Given the description of an element on the screen output the (x, y) to click on. 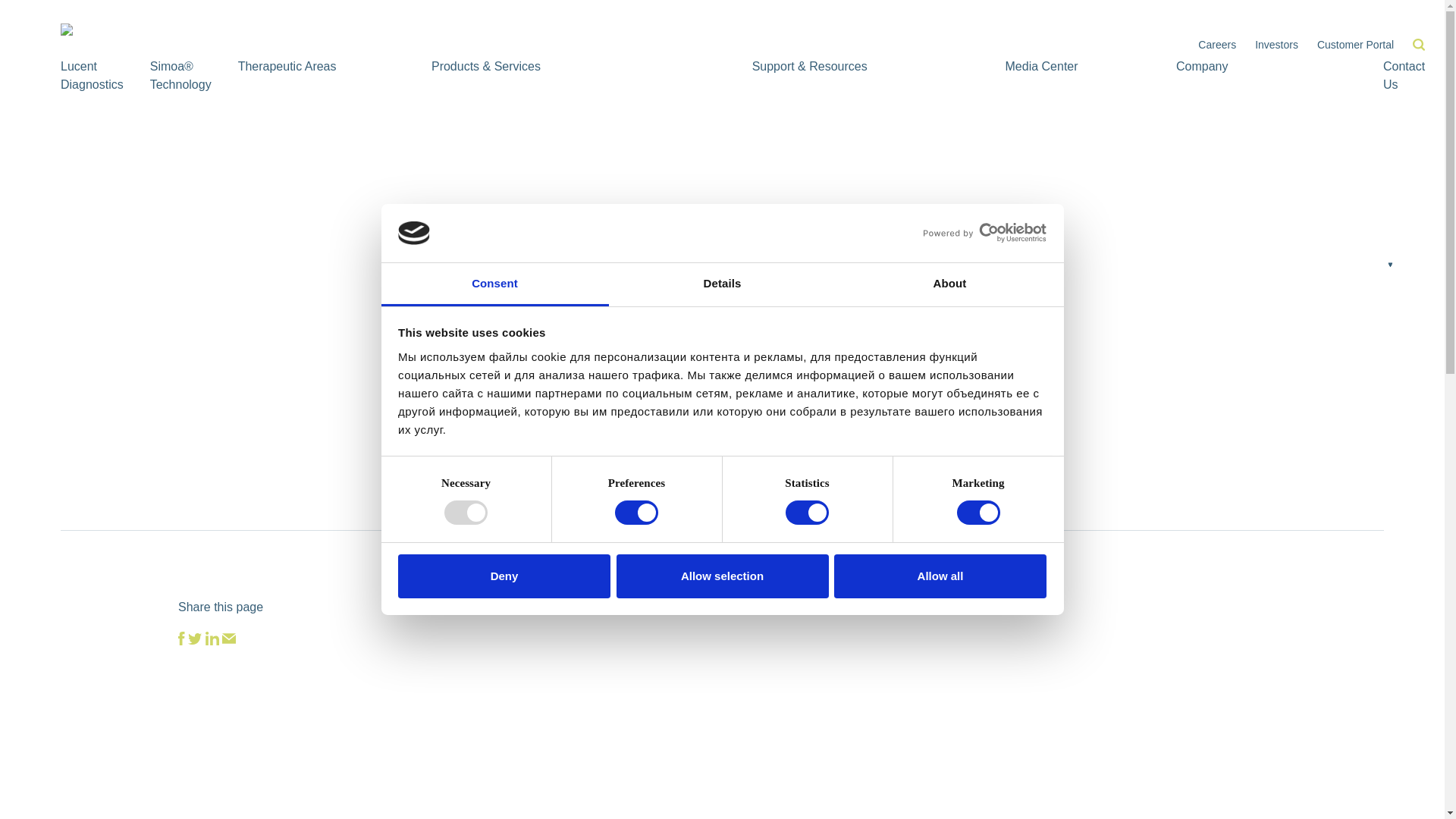
Details (721, 284)
About (948, 284)
Consent (494, 284)
